Given the description of an element on the screen output the (x, y) to click on. 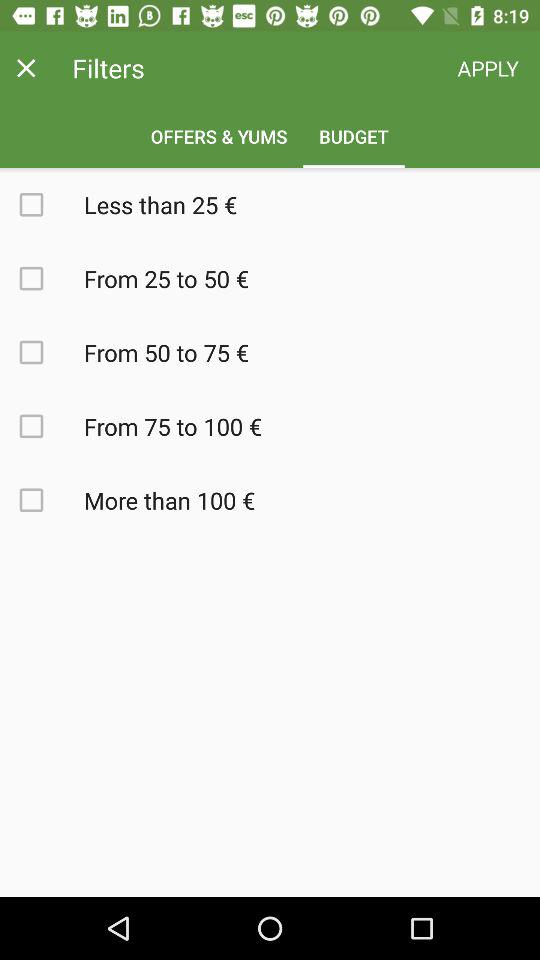
these can be converted into a 10 discount on your next mea (41, 426)
